Given the description of an element on the screen output the (x, y) to click on. 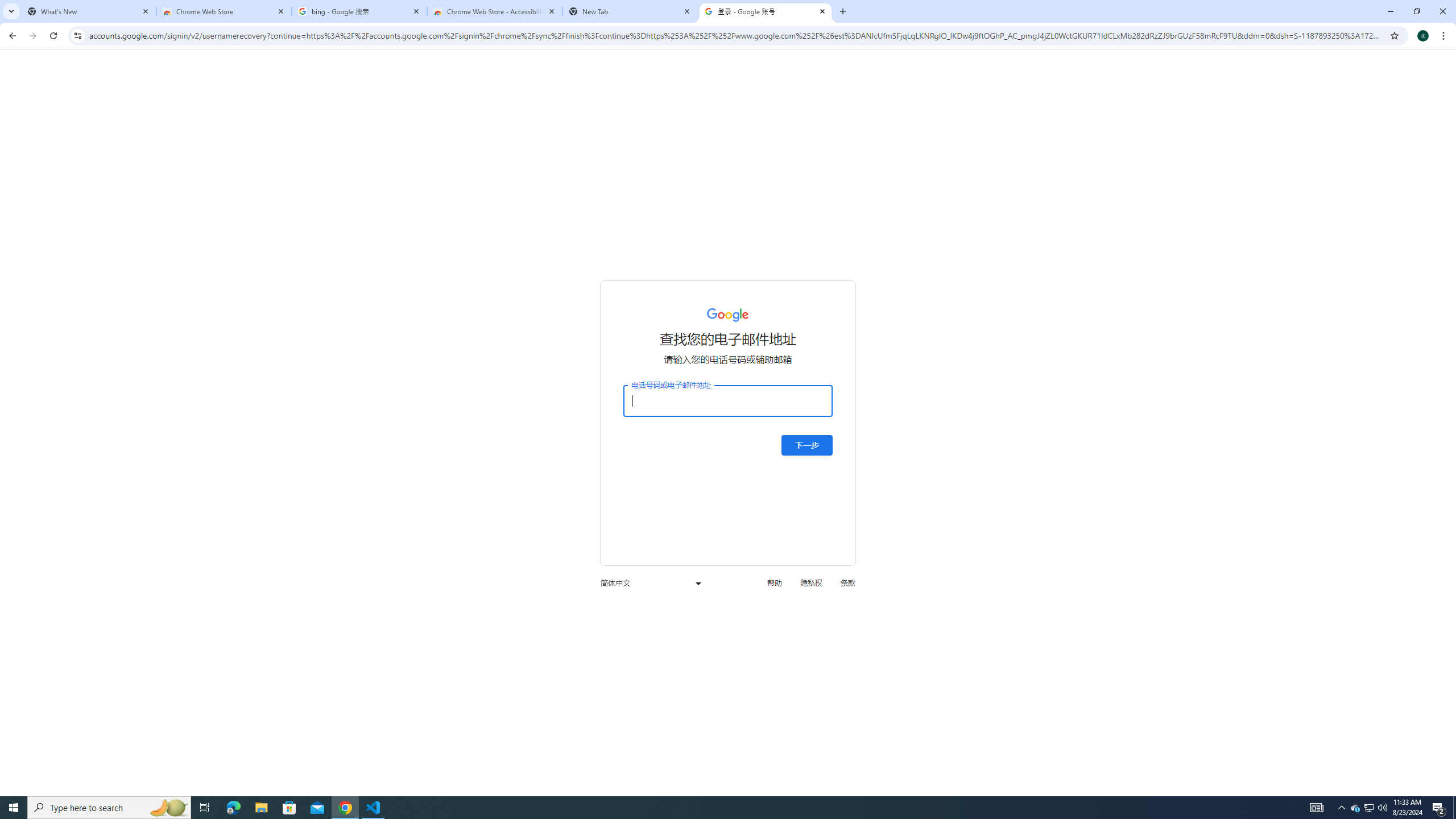
Block Authors (1283, 92)
New comment (1186, 179)
Accept and Move to Next (1099, 77)
Show Comments (826, 91)
Accept (1099, 92)
